Given the description of an element on the screen output the (x, y) to click on. 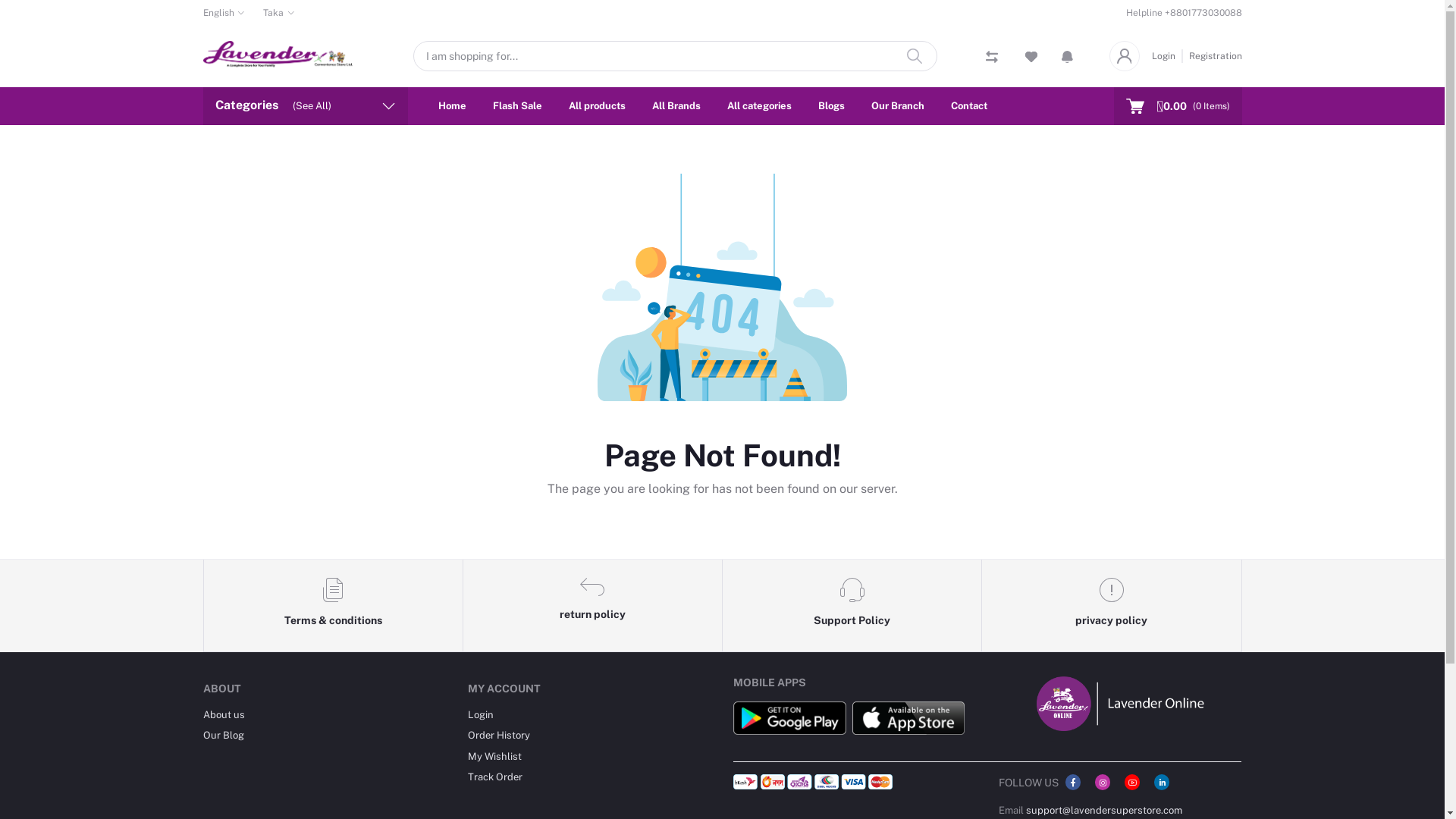
Terms & conditions Element type: text (332, 605)
About us Element type: text (223, 714)
return policy Element type: text (592, 605)
All products Element type: text (596, 105)
Our Blog Element type: text (223, 734)
English Element type: text (224, 12)
Track Order Element type: text (494, 776)
All Brands Element type: text (676, 105)
Taka Element type: text (278, 12)
Home Element type: text (452, 105)
Order History Element type: text (498, 734)
support@lavendersuperstore.com Element type: text (1104, 809)
privacy policy Element type: text (1111, 605)
Contact Element type: text (968, 105)
Support Policy Element type: text (852, 605)
(See All) Element type: text (311, 105)
Login Element type: text (1166, 55)
Our Branch Element type: text (896, 105)
Blogs Element type: text (830, 105)
All categories Element type: text (758, 105)
Helpline +8801773030088 Element type: text (1183, 12)
Flash Sale Element type: text (517, 105)
Login Element type: text (480, 714)
Registration Element type: text (1212, 56)
My Wishlist Element type: text (494, 756)
